Given the description of an element on the screen output the (x, y) to click on. 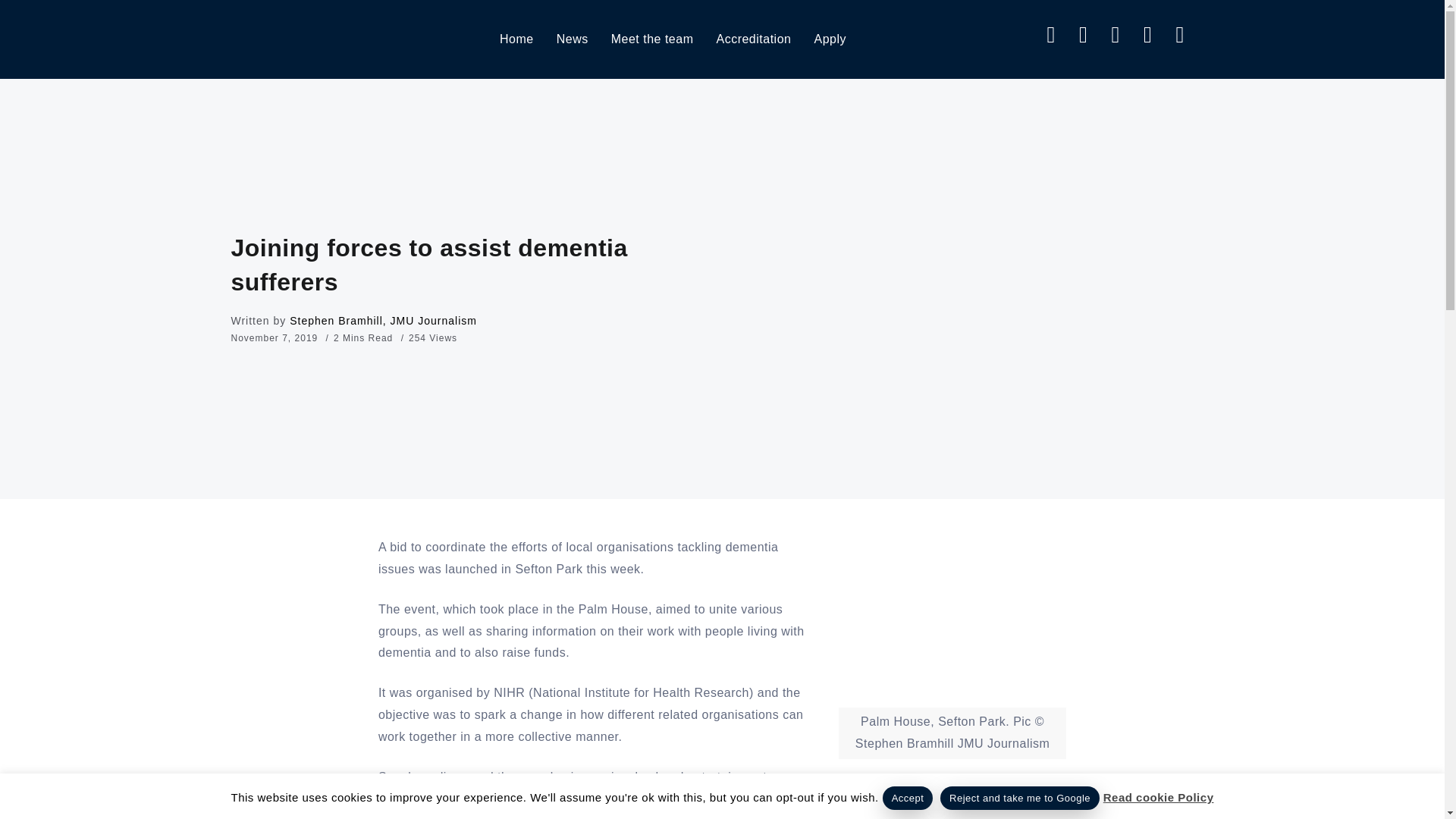
Accept (907, 797)
Apply (829, 39)
Accreditation (753, 39)
News (572, 39)
JMU Journalism (287, 38)
Meet the team (652, 39)
Reject and take me to Google (1019, 797)
Stephen Bramhill, JMU Journalism (383, 320)
Home (516, 39)
Read cookie Policy (1158, 797)
